Given the description of an element on the screen output the (x, y) to click on. 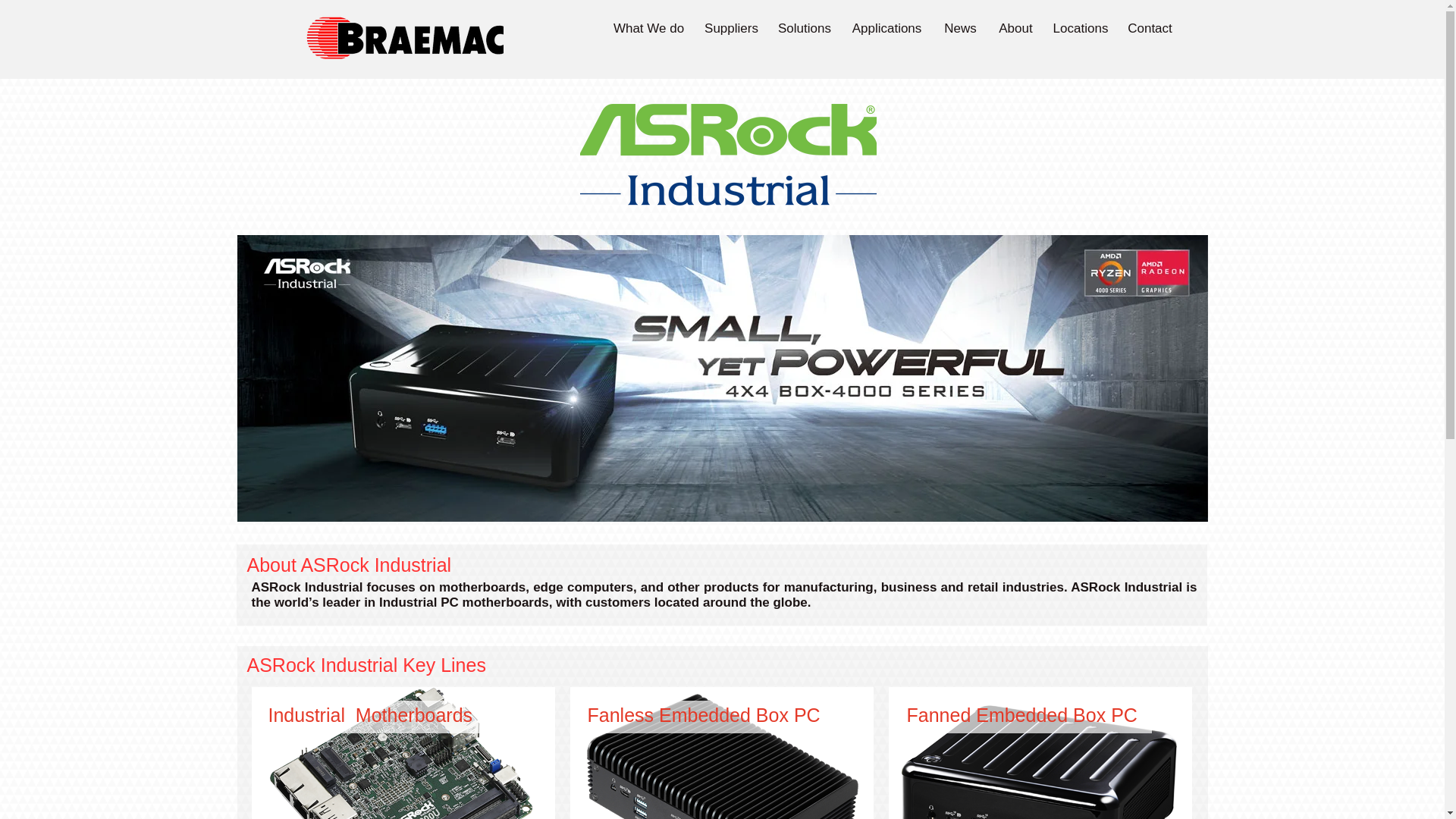
News (960, 28)
About (1015, 28)
Applications (886, 28)
What We do (648, 28)
Fanned Embedded Box PC (1022, 714)
Solutions (804, 28)
Contact (1149, 28)
Fanless Embedded Box PC (702, 714)
Locations (1080, 28)
Industrial  Motherboards (370, 714)
